Given the description of an element on the screen output the (x, y) to click on. 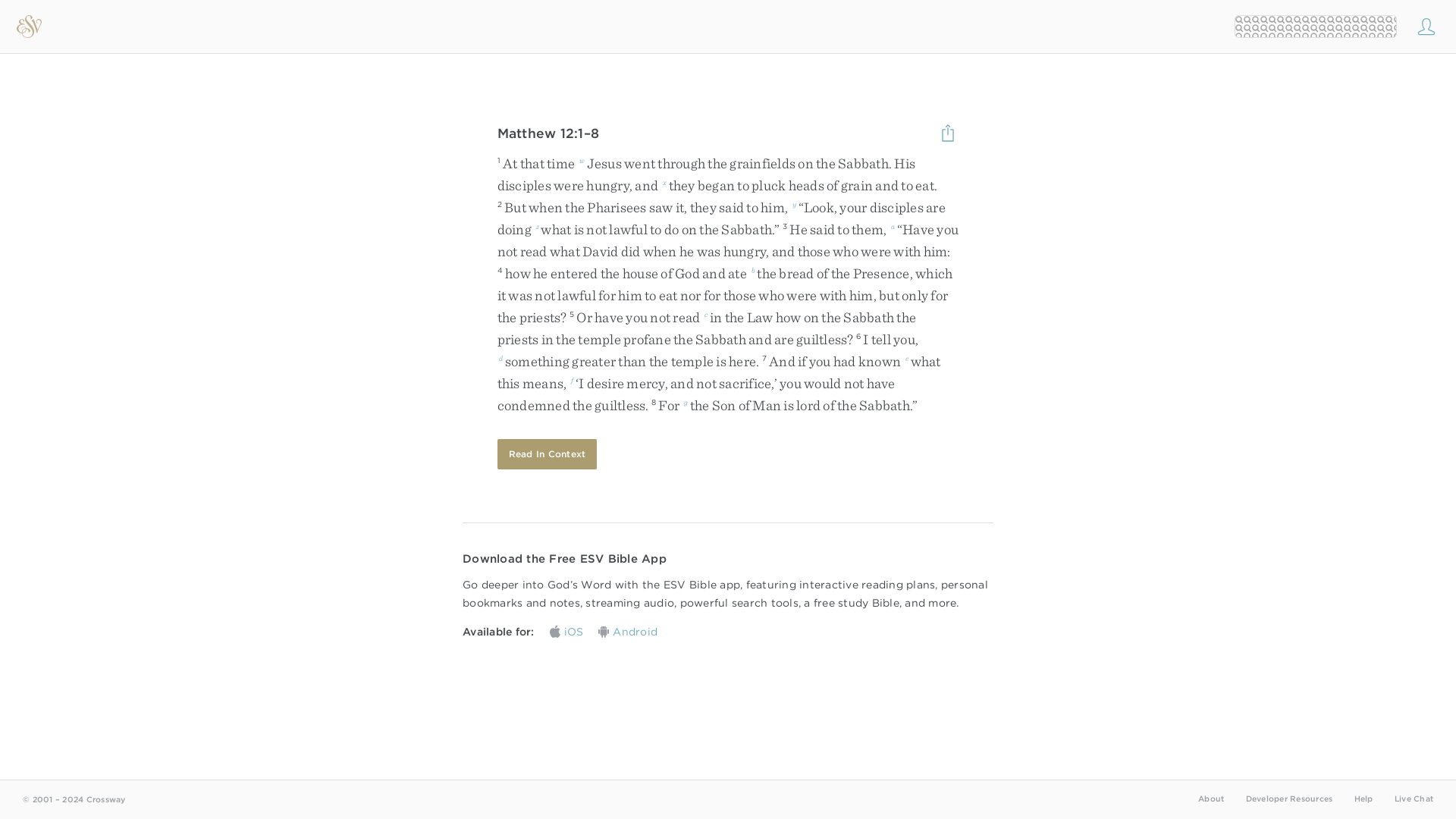
iOS (565, 631)
Android (628, 631)
About (1211, 798)
Developer Resources (1288, 798)
Live Chat (1413, 798)
Read In Context (546, 453)
Help (1363, 798)
